Given the description of an element on the screen output the (x, y) to click on. 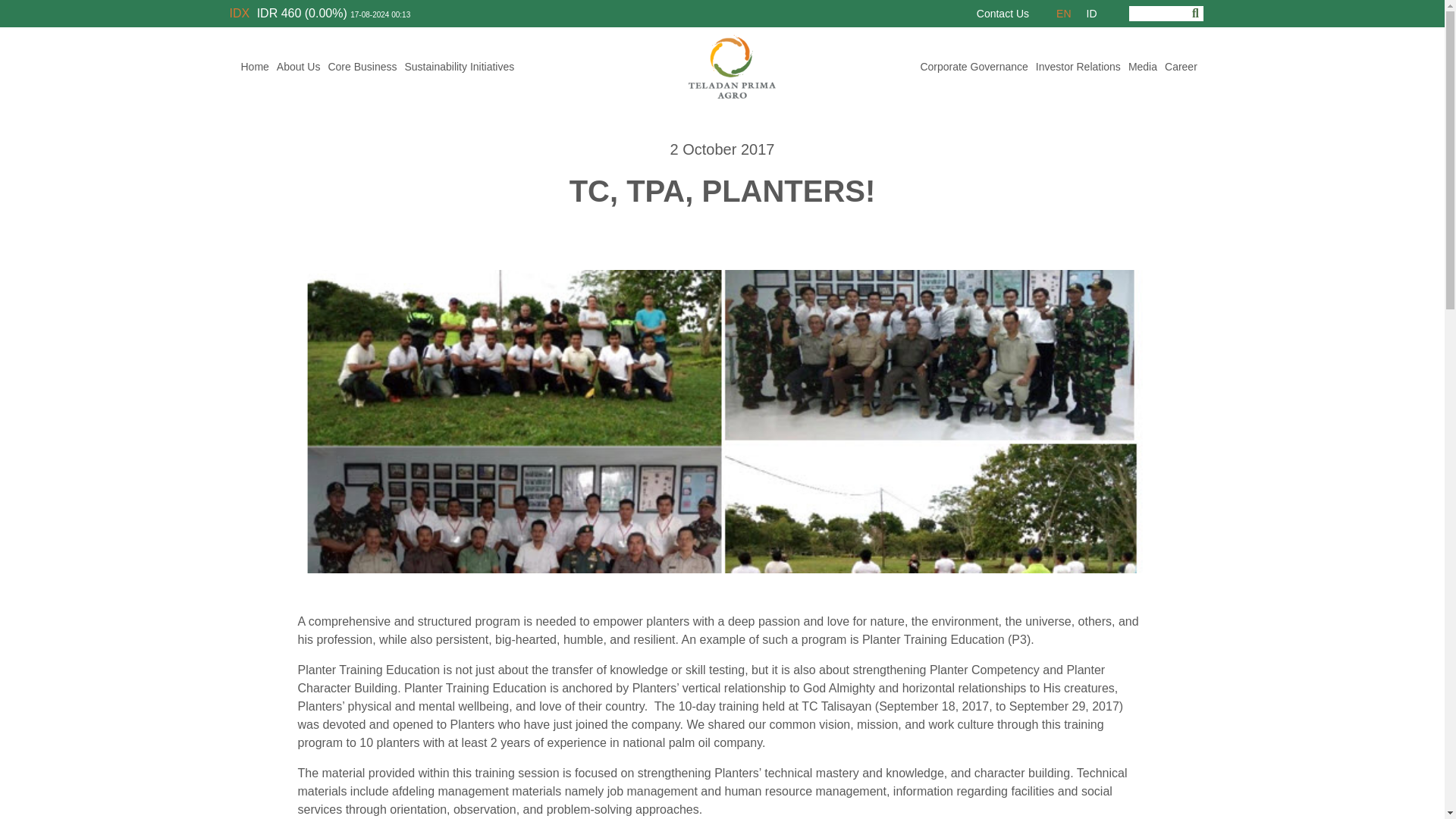
Corporate Governance (972, 66)
ID (1090, 13)
ID (1090, 13)
Sustainability Initiatives (459, 66)
Contact Us (1002, 13)
EN (1063, 13)
EN (1063, 13)
About Us (298, 66)
Core Business (361, 66)
